Given the description of an element on the screen output the (x, y) to click on. 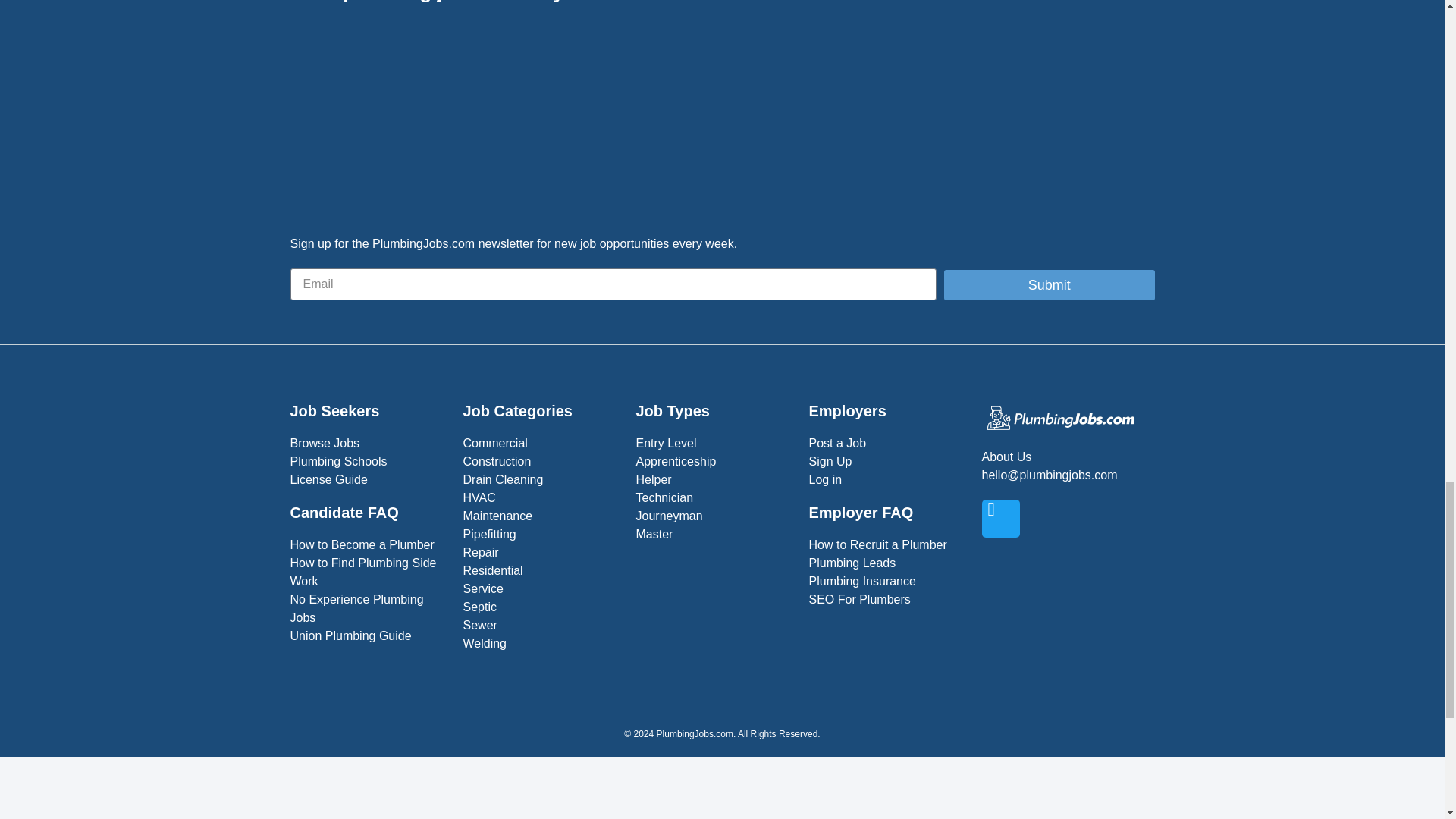
Entry Level (713, 443)
Maintenance (541, 515)
Service (541, 588)
License Guide (367, 479)
Welding (541, 643)
Plumbing Schools (367, 461)
Commercial (541, 443)
Construction (541, 461)
Union Plumbing Guide (367, 636)
Pipefitting (541, 534)
